Given the description of an element on the screen output the (x, y) to click on. 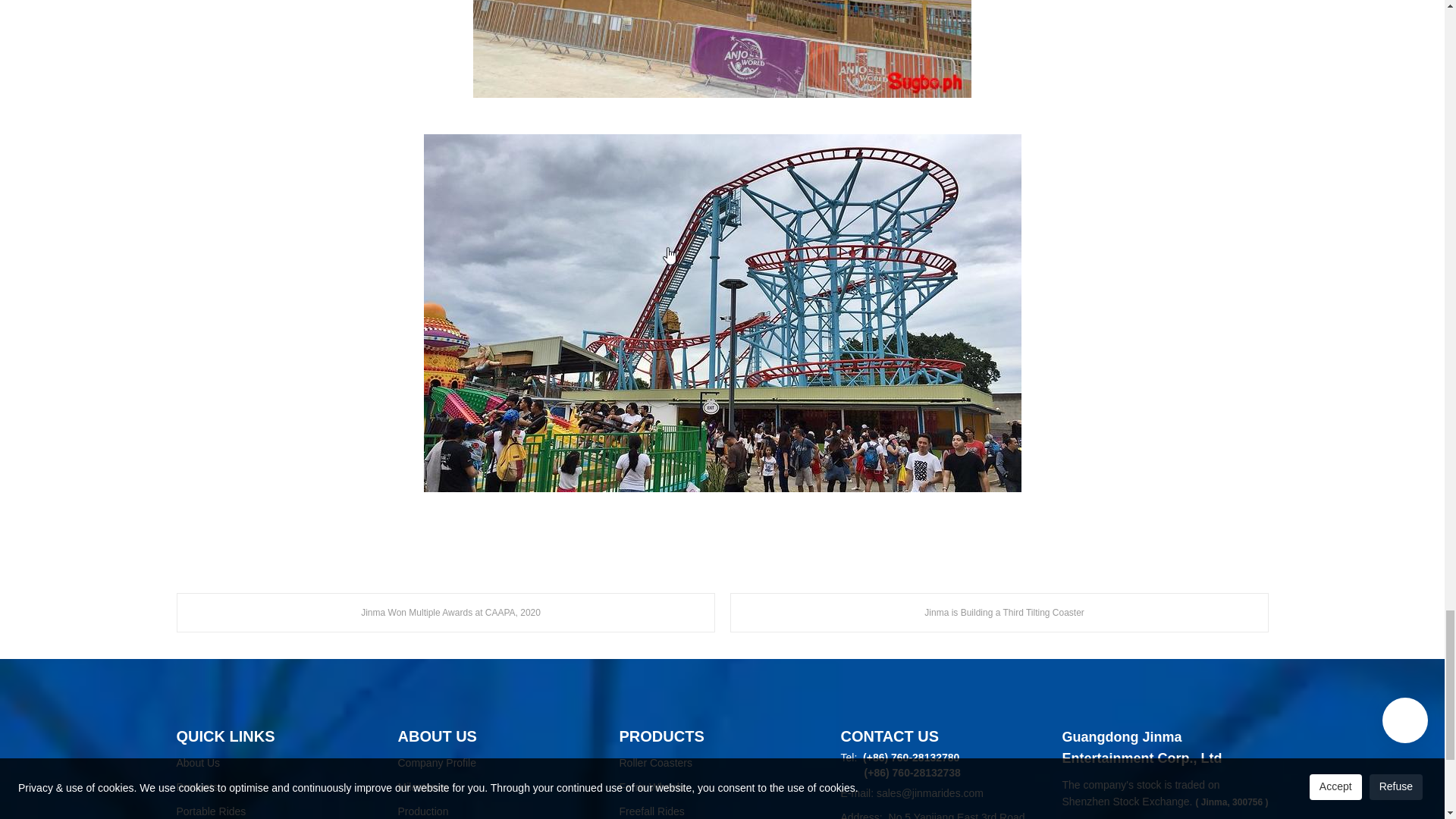
Jinma Won Multiple Awards at  CAAPA, 2020 (445, 612)
Jinma Won Multiple Awards at CAAPA, 2020 (445, 612)
About Us (278, 762)
Jinma is Building a Third Tilting Coaster (998, 612)
Portable Rides (278, 809)
Products (278, 786)
Jinma is Building a Third Tilting Coaster (998, 612)
